Given the description of an element on the screen output the (x, y) to click on. 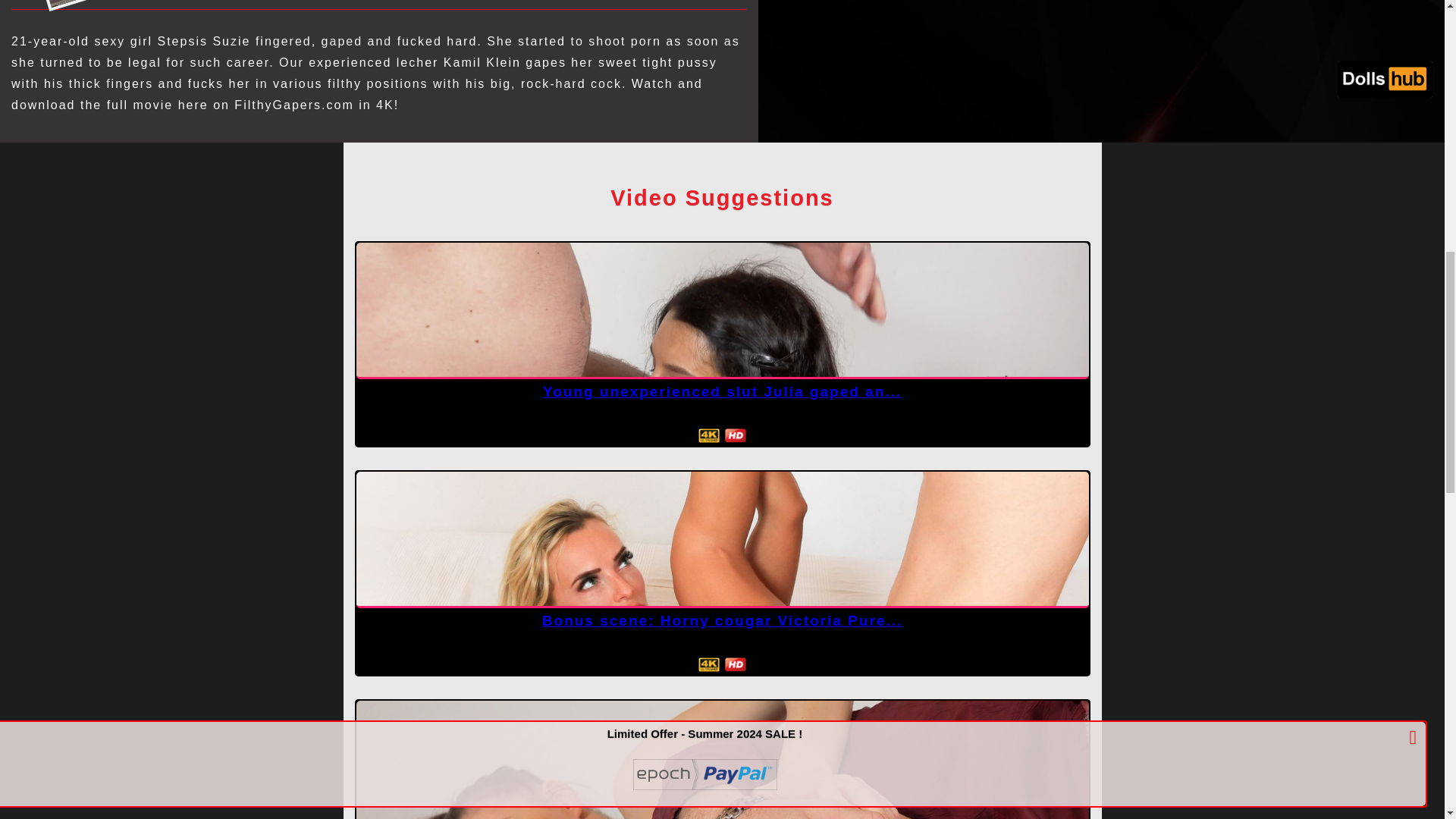
Young unexperienced slut Julia gaped an... (722, 391)
